Given the description of an element on the screen output the (x, y) to click on. 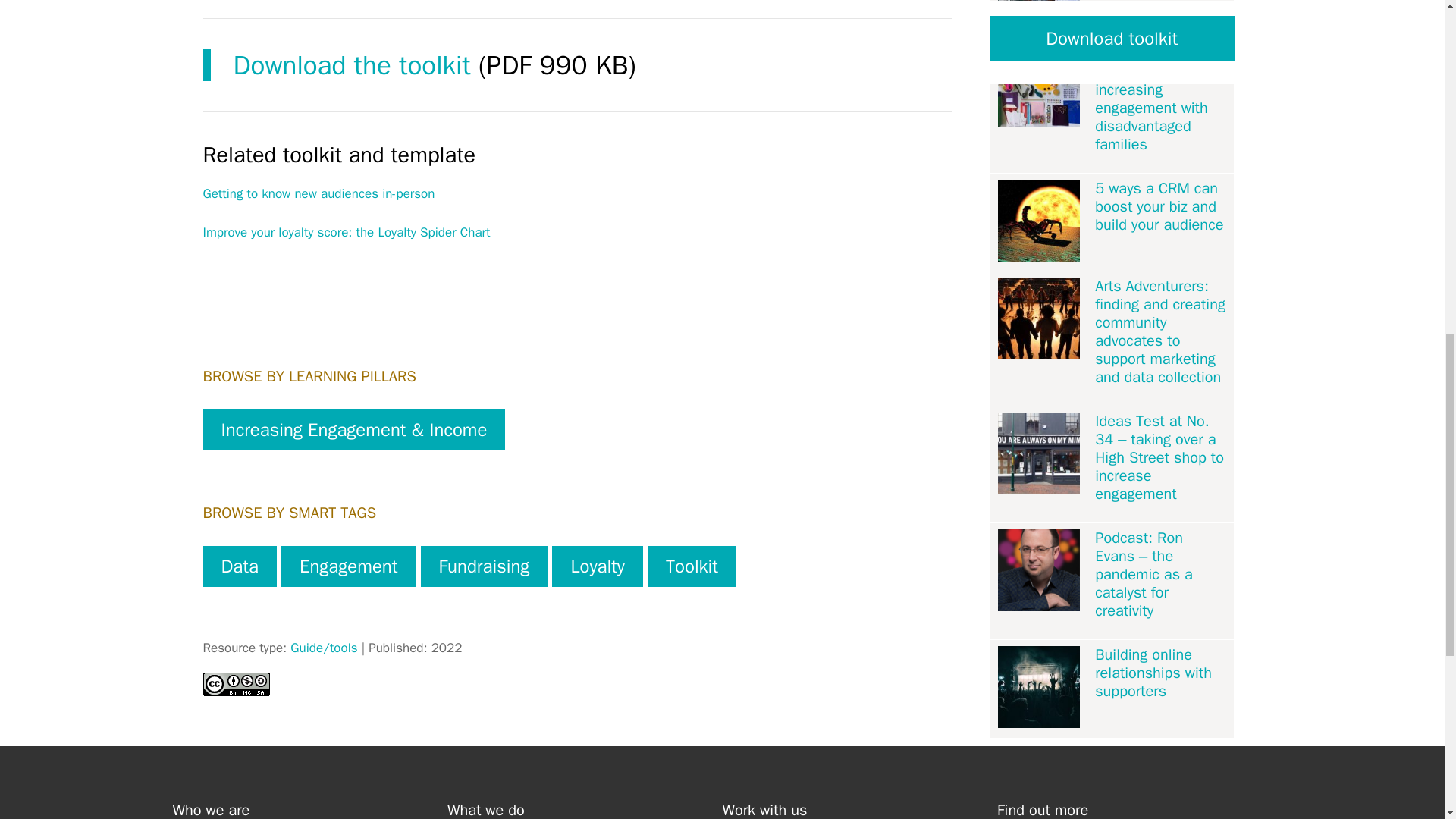
Fundraising (484, 566)
Toolkit (691, 566)
Getting to know new audiences in-person (319, 193)
Data (239, 566)
Download the toolkit (351, 64)
Loyalty (596, 566)
Improve your loyalty score: the Loyalty Spider Chart (346, 232)
Engagement (347, 566)
5 ways a CRM can boost your biz and build your audience (1159, 206)
